Given the description of an element on the screen output the (x, y) to click on. 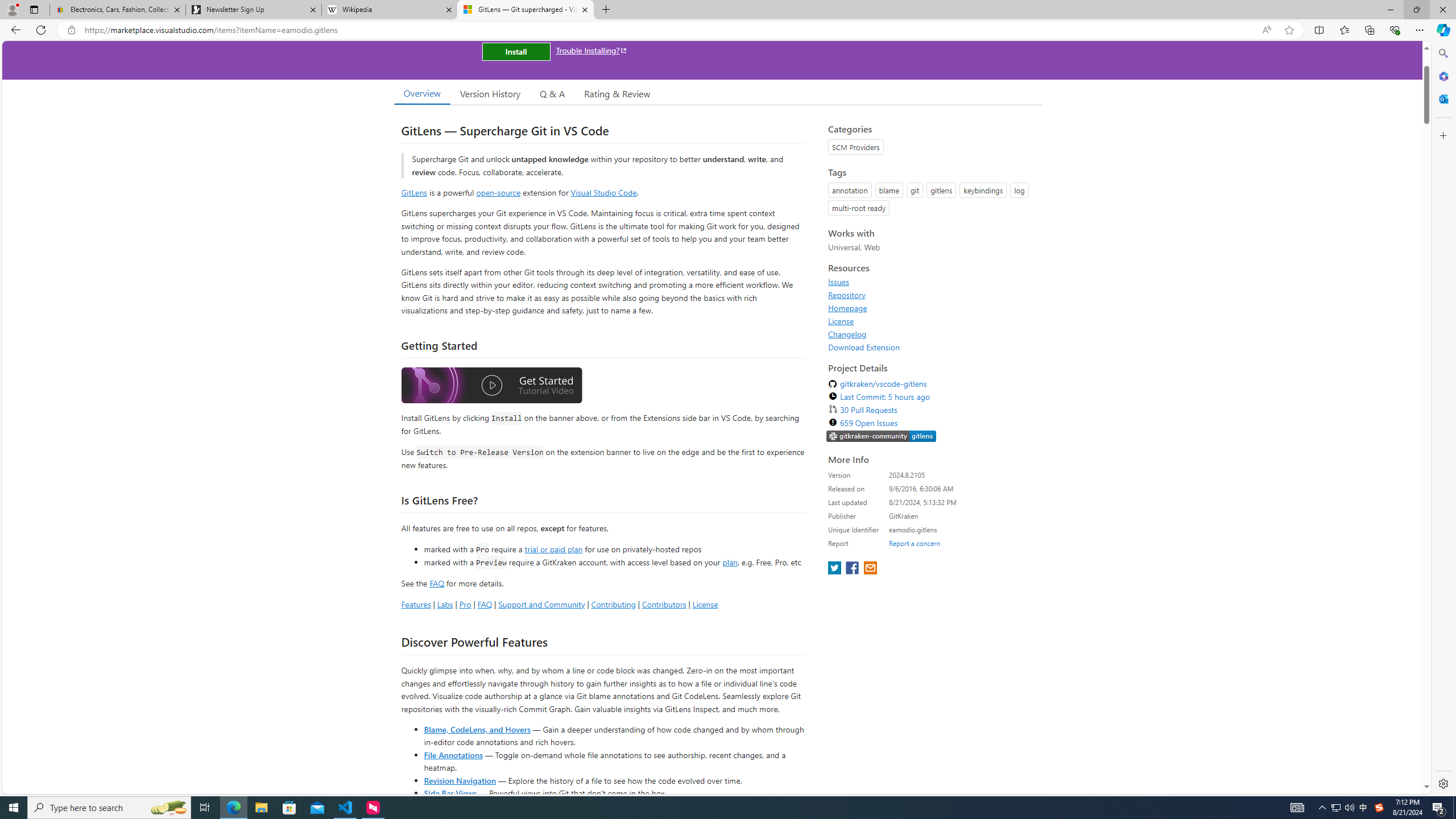
Contributing (613, 603)
License (931, 320)
Features (415, 603)
Repository (847, 294)
GitLens (414, 192)
Download Extension (931, 346)
Issues (838, 281)
